Given the description of an element on the screen output the (x, y) to click on. 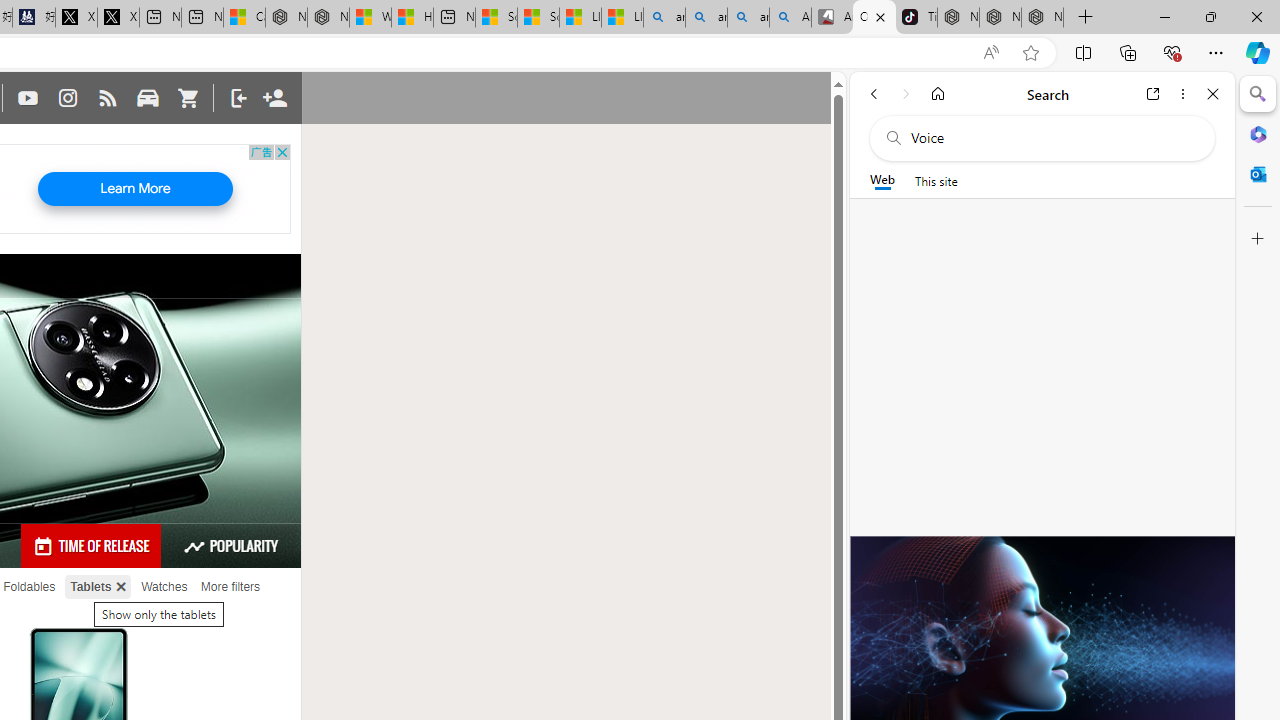
Nordace - Siena Pro 15 Essential Set (1042, 17)
Web scope (882, 180)
Amazon Echo Robot - Search Images (790, 17)
Learn More (134, 189)
